Given the description of an element on the screen output the (x, y) to click on. 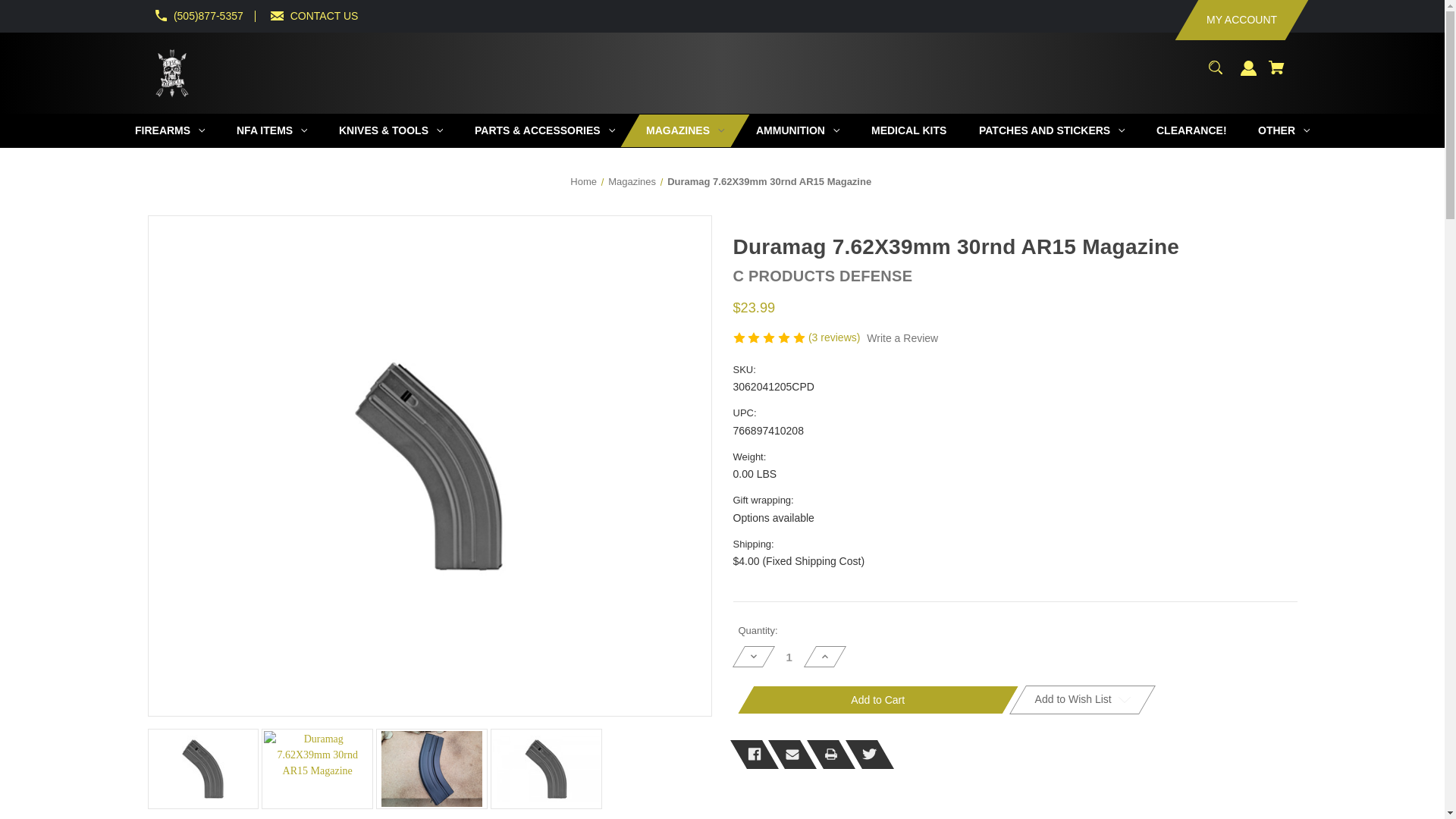
MY ACCOUNT (1229, 20)
MAGNIFYING GLASS IMAGE LARGE RED CIRCLE WITH A BLACK BORDER (1215, 67)
CONTACT US (323, 15)
1 (788, 656)
